Given the description of an element on the screen output the (x, y) to click on. 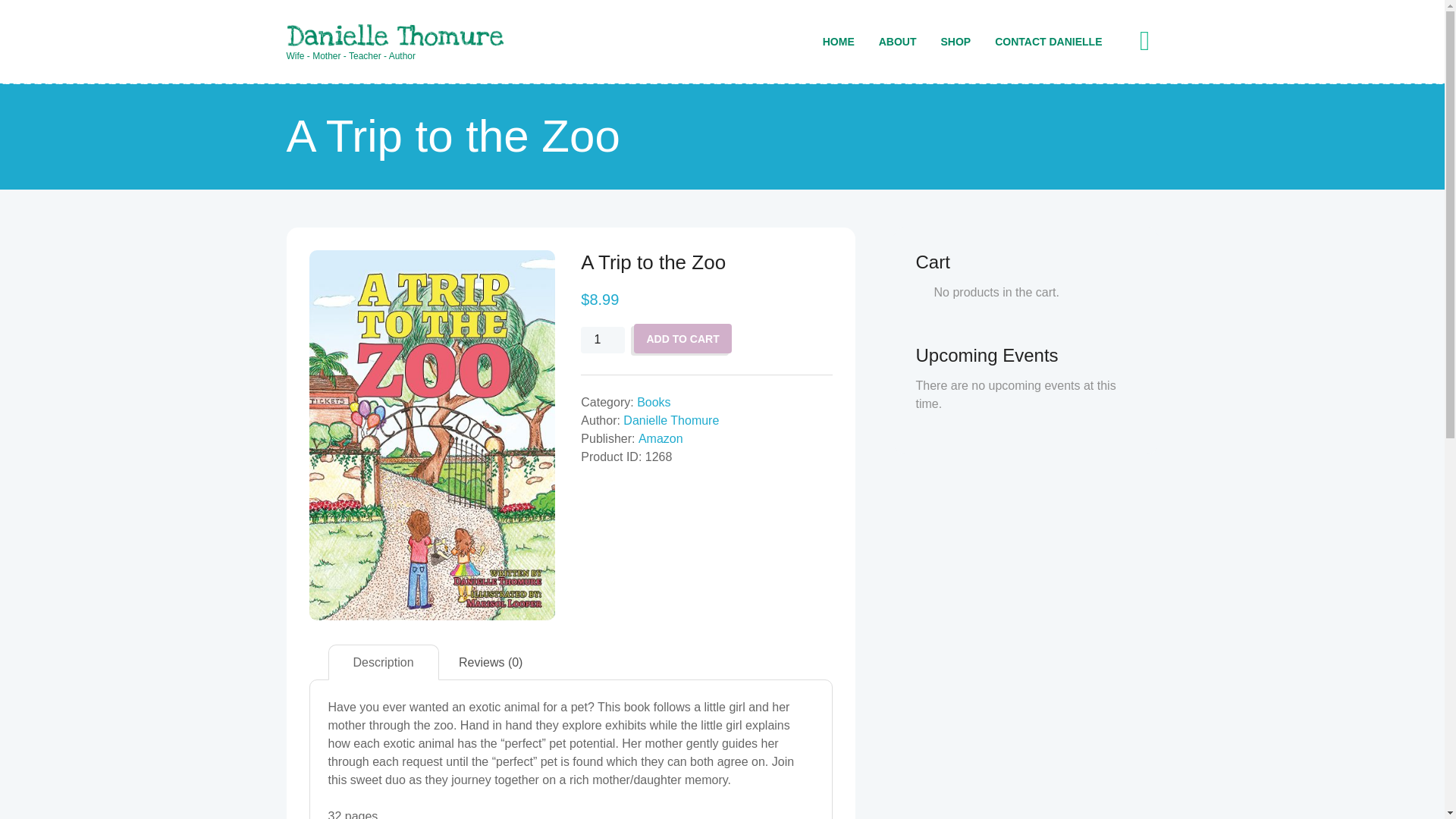
Description (383, 662)
ADD TO CART (681, 337)
Qty (602, 339)
Books (653, 401)
Danielle Thomure (671, 420)
1 (602, 339)
SHOP (955, 41)
ABOUT (897, 41)
Wife - Mother - Teacher - Author (395, 43)
HOME (838, 41)
